Given the description of an element on the screen output the (x, y) to click on. 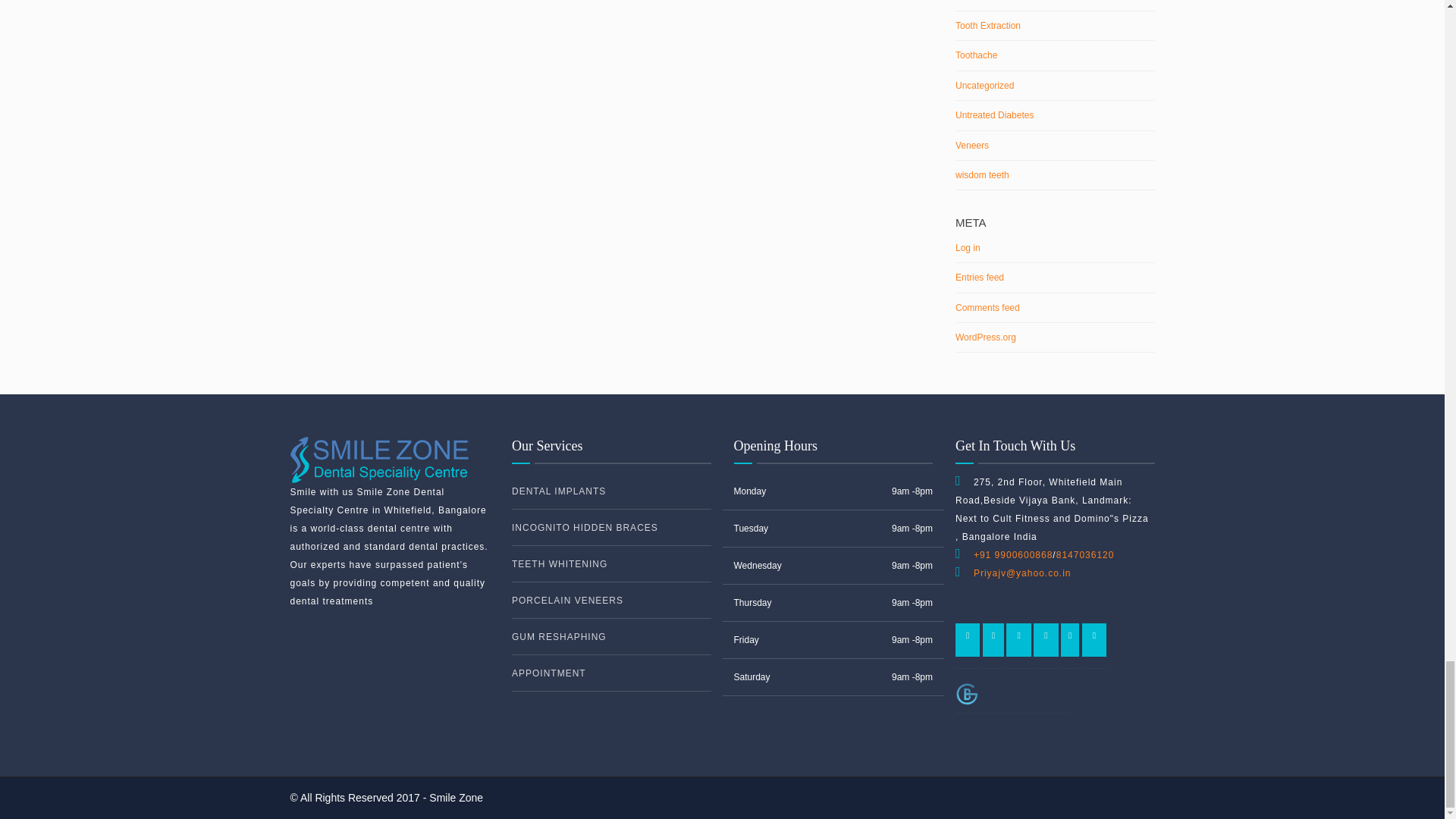
Smile Zone Dental Specialty Centre (378, 459)
